Given the description of an element on the screen output the (x, y) to click on. 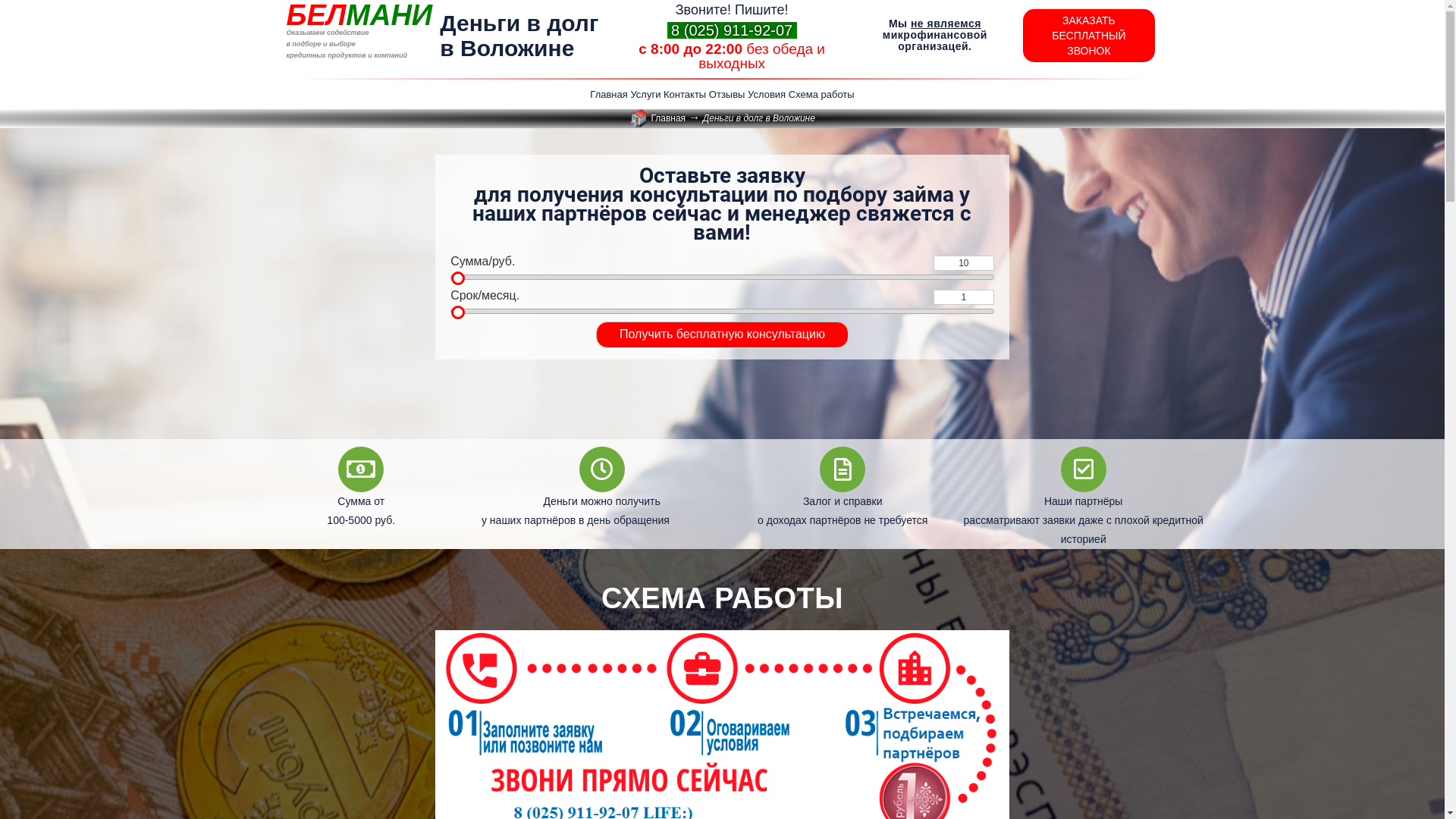
 8 (025) 911-92-07  Element type: text (732, 29)
